Given the description of an element on the screen output the (x, y) to click on. 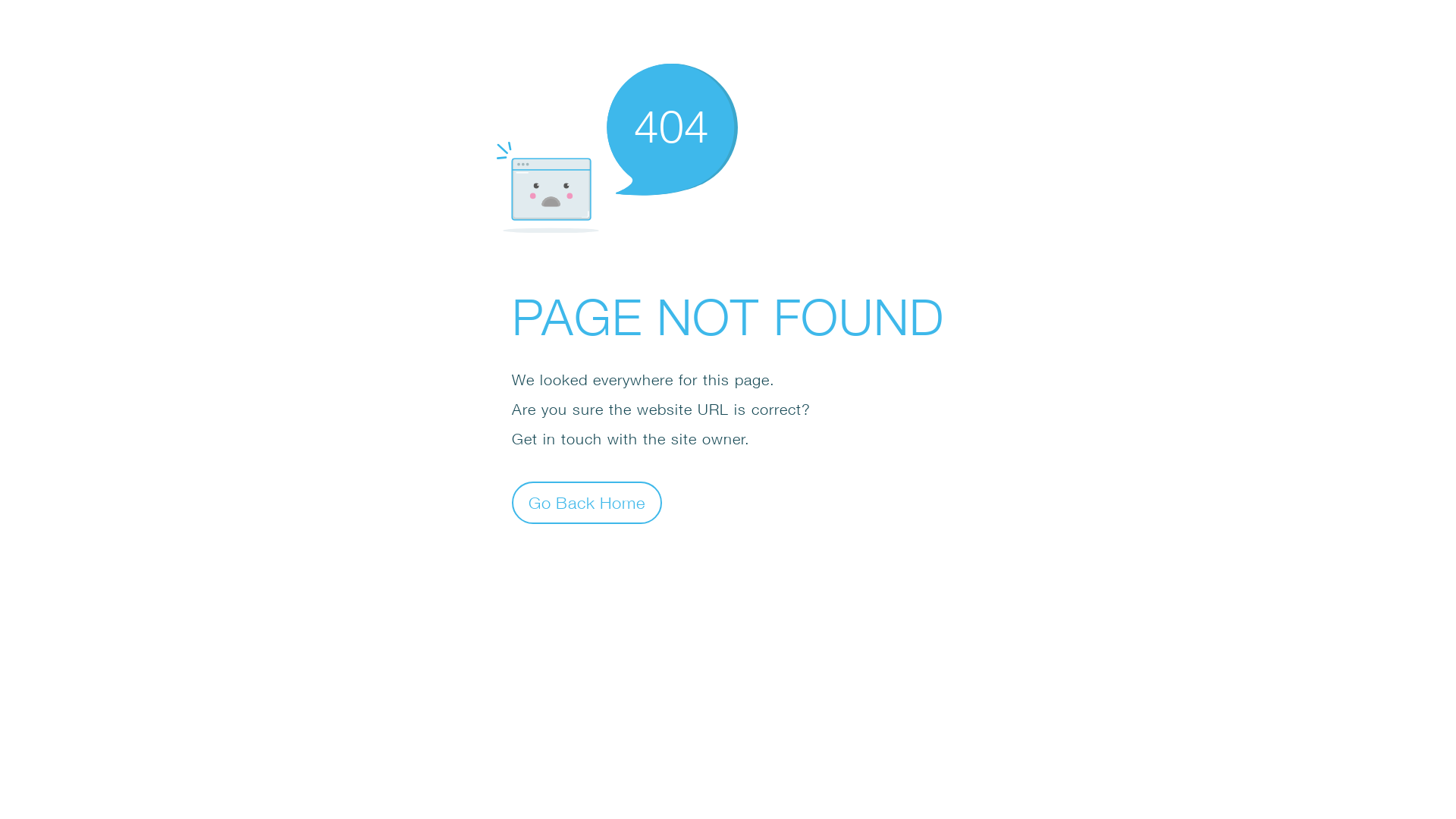
Go Back Home Element type: text (586, 502)
